Given the description of an element on the screen output the (x, y) to click on. 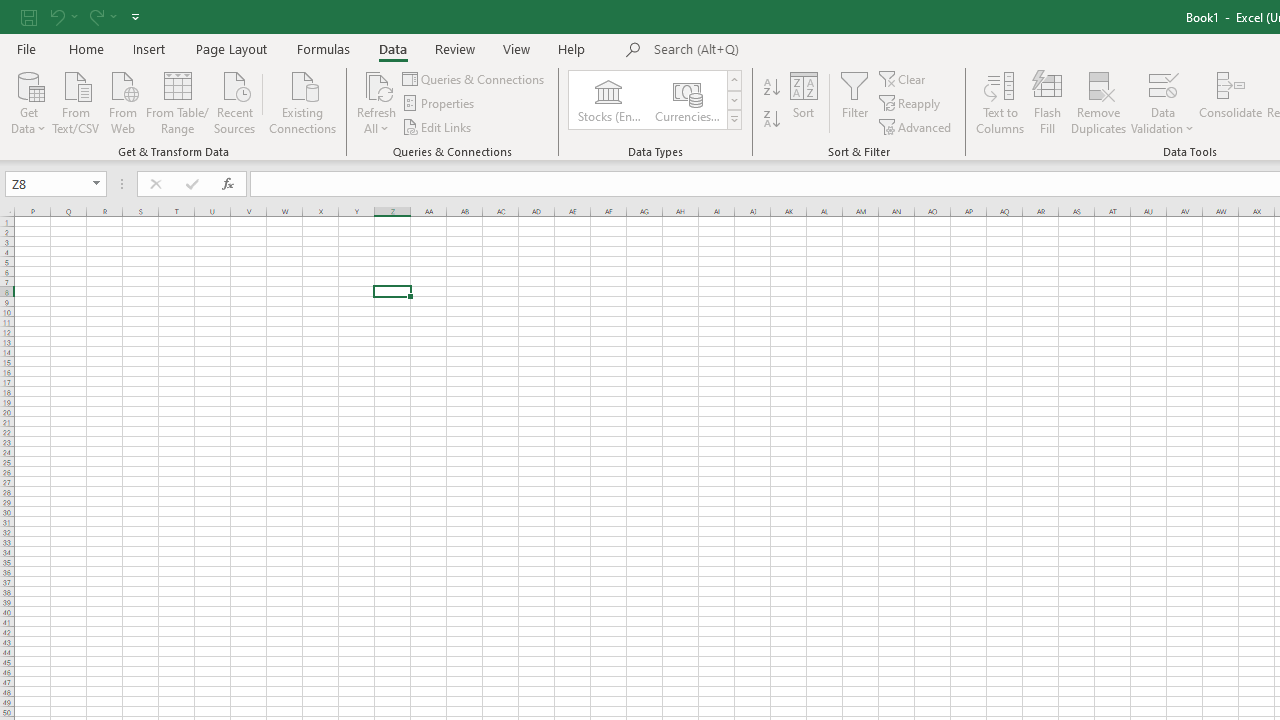
From Text/CSV (75, 101)
Sort... (804, 102)
Data Types (734, 120)
Class: NetUIImage (734, 119)
Consolidate... (1230, 102)
Get Data (28, 101)
From Web (122, 101)
Reapply (911, 103)
